Given the description of an element on the screen output the (x, y) to click on. 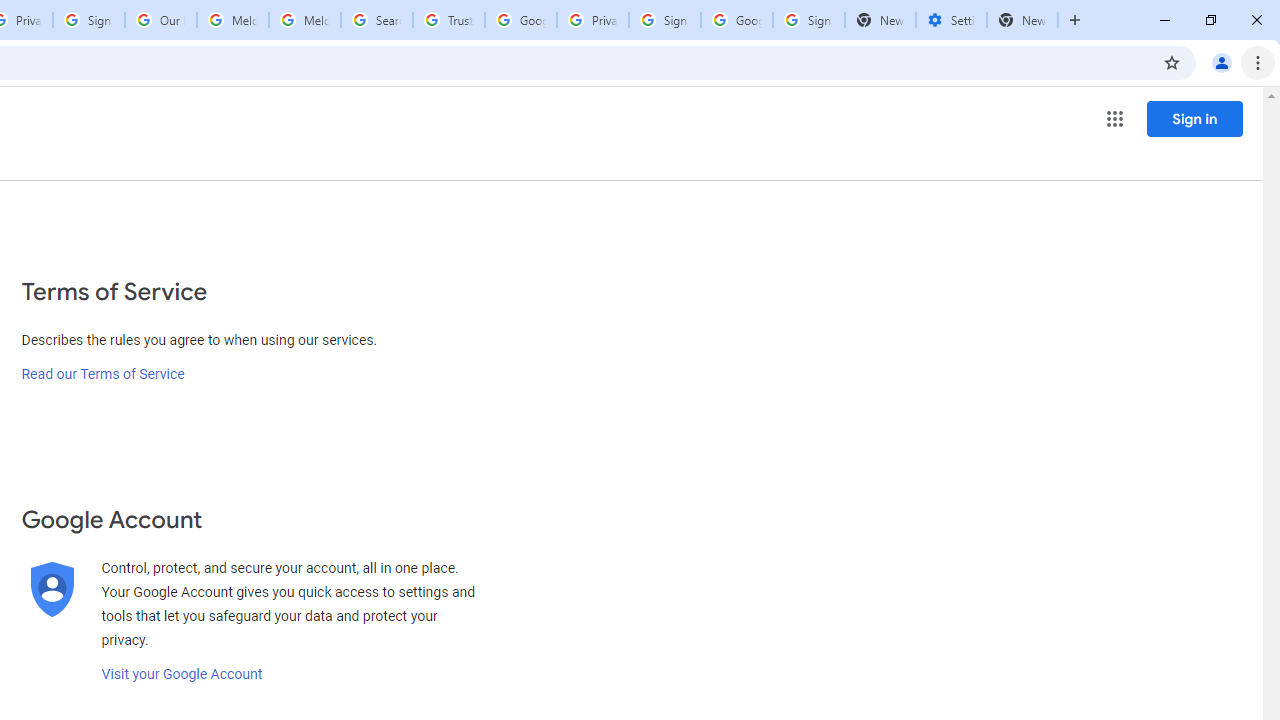
Read our Terms of Service (102, 374)
Visit your Google Account (181, 674)
Settings - Addresses and more (951, 20)
Google apps (1114, 118)
Search our Doodle Library Collection - Google Doodles (376, 20)
Sign in - Google Accounts (808, 20)
Google Ads - Sign in (520, 20)
